Given the description of an element on the screen output the (x, y) to click on. 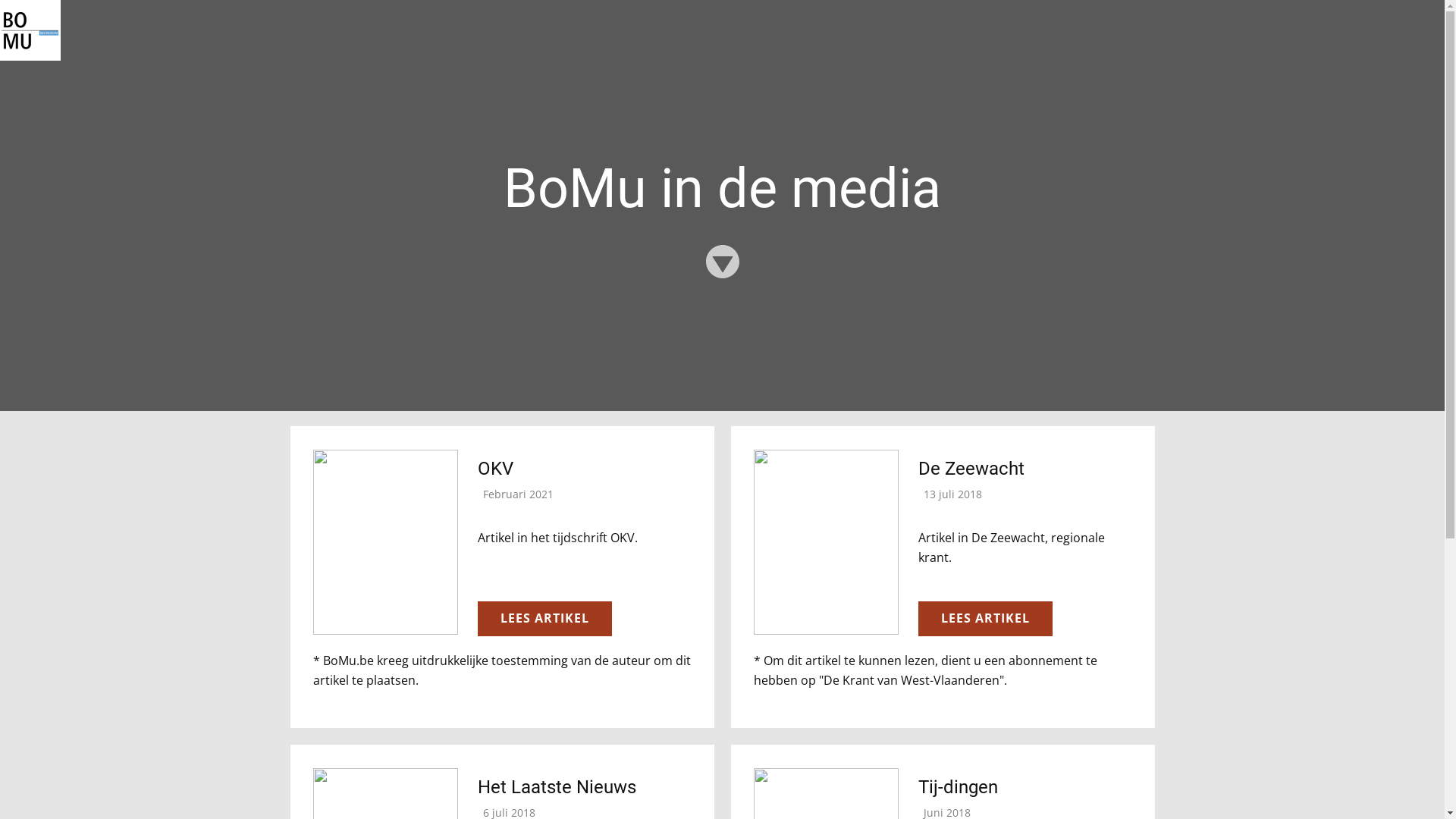
LEES ARTIKEL Element type: text (984, 618)
Home Element type: hover (30, 30)
LEES ARTIKEL Element type: text (544, 618)
